Given the description of an element on the screen output the (x, y) to click on. 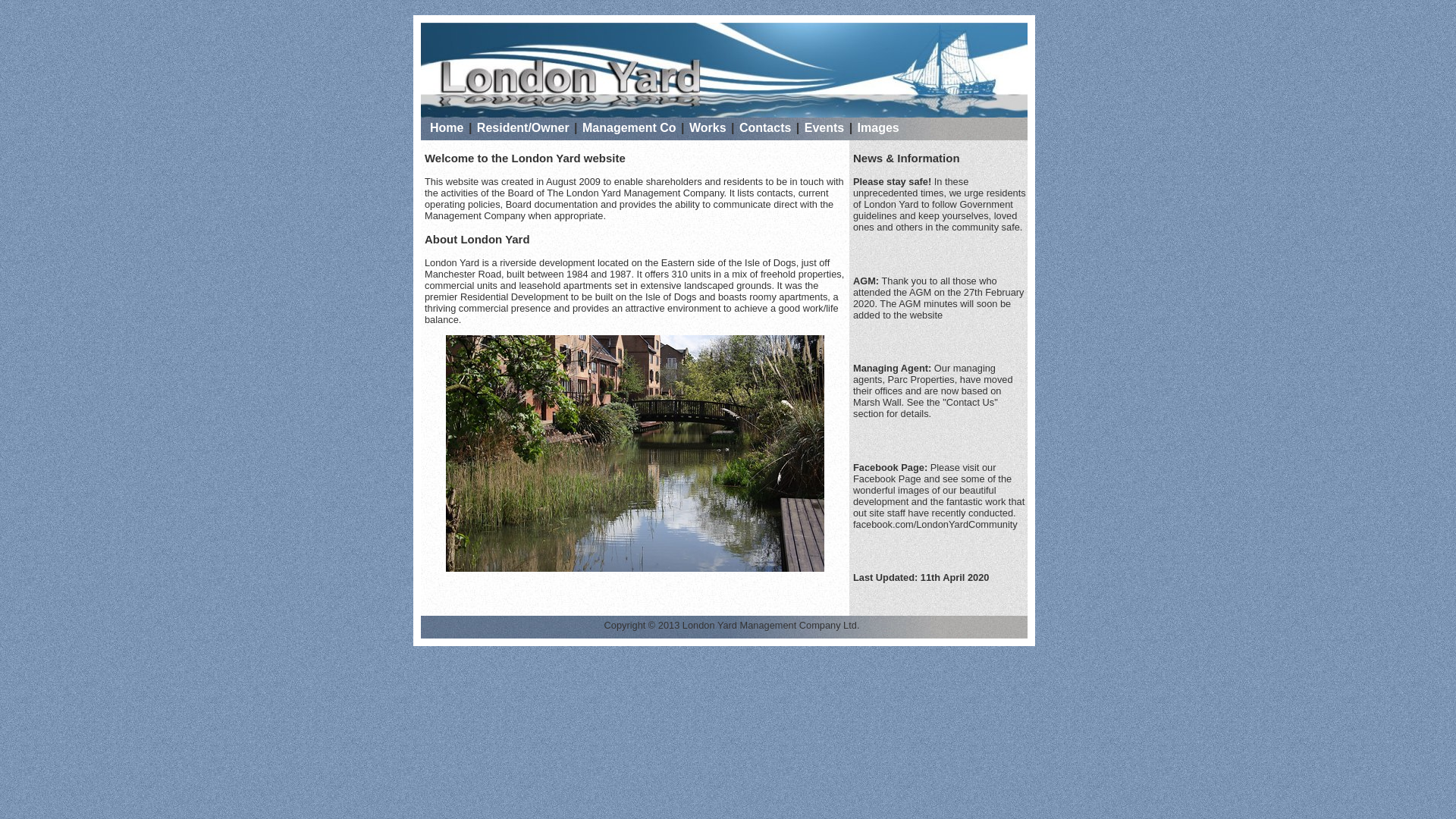
Contacts (767, 127)
Works (708, 127)
Events (825, 127)
Management Co (630, 127)
Images (878, 127)
Home (448, 127)
